Given the description of an element on the screen output the (x, y) to click on. 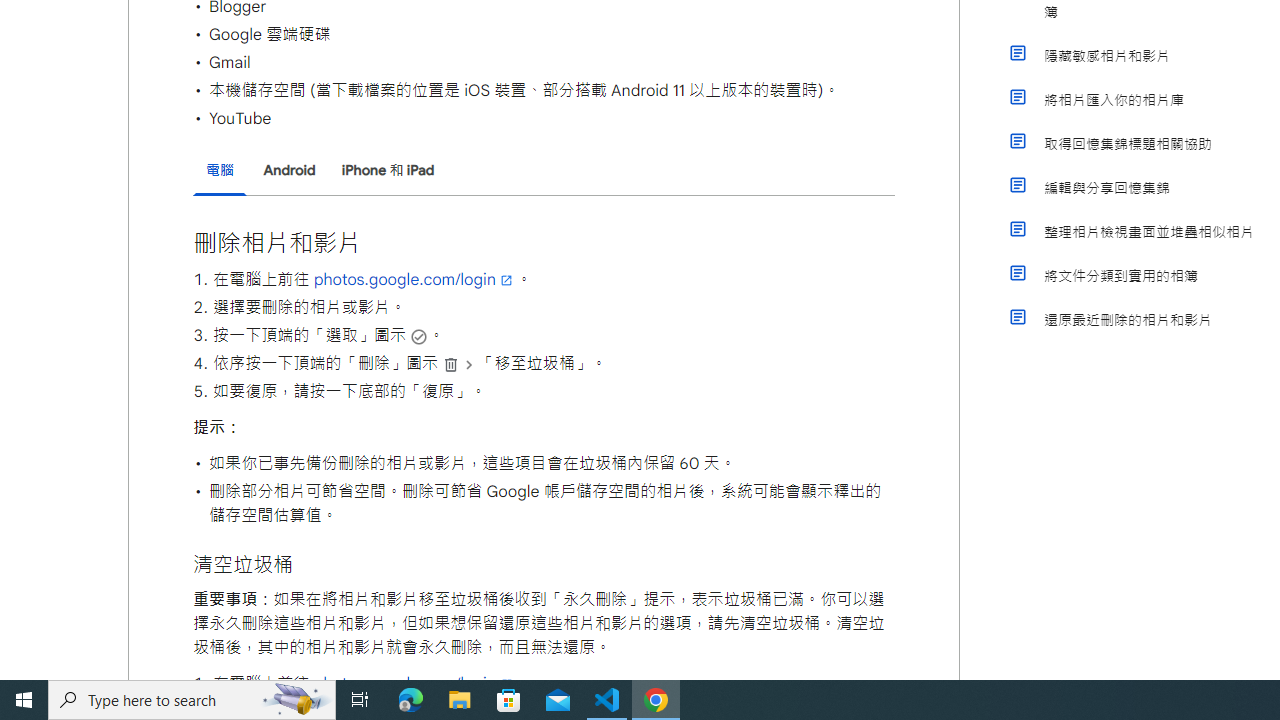
photos.google.com/login (414, 683)
Android (288, 169)
